Given the description of an element on the screen output the (x, y) to click on. 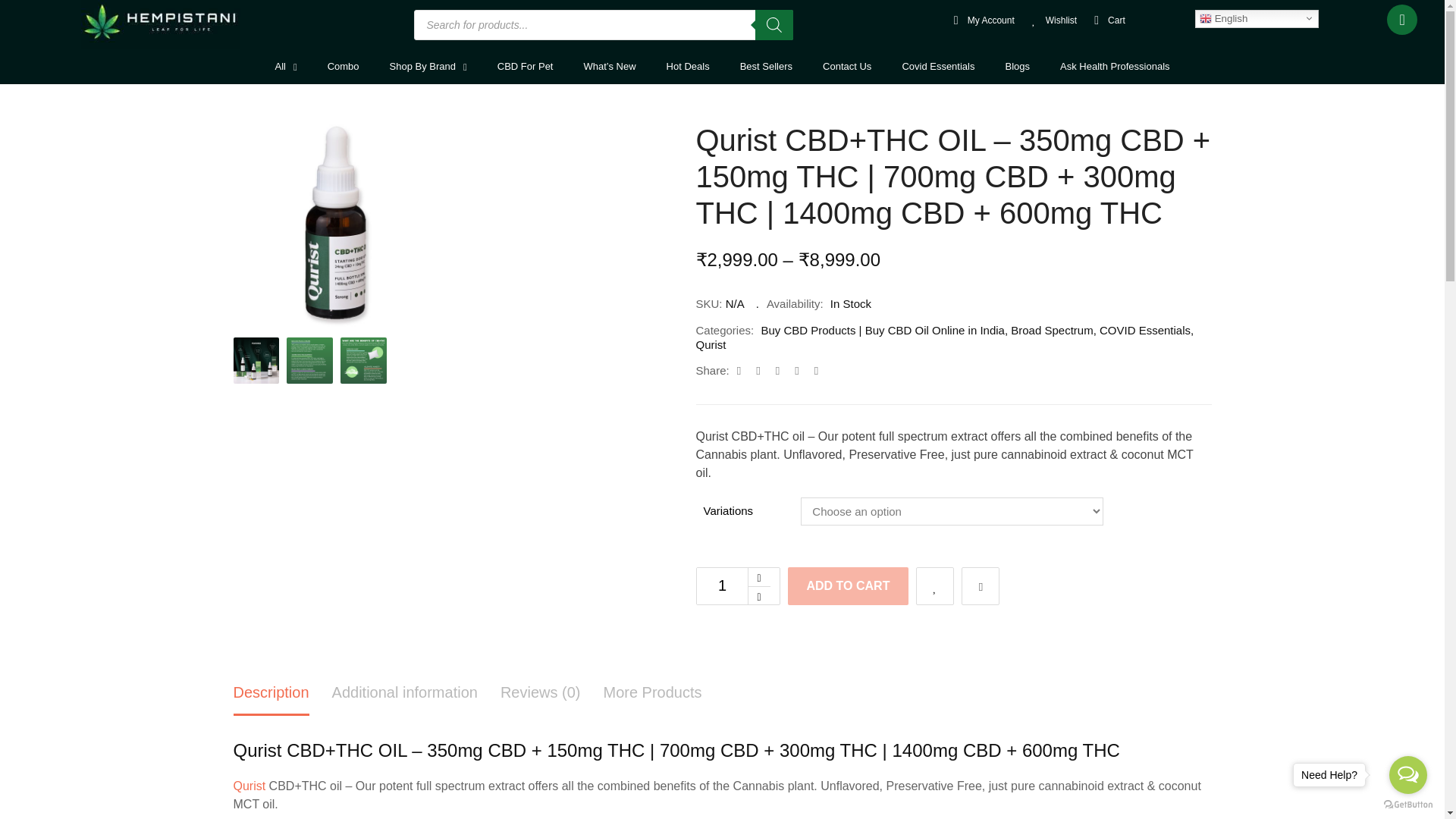
Cart (1107, 20)
My Account (981, 20)
1 (721, 586)
Wishlist (1051, 20)
